Given the description of an element on the screen output the (x, y) to click on. 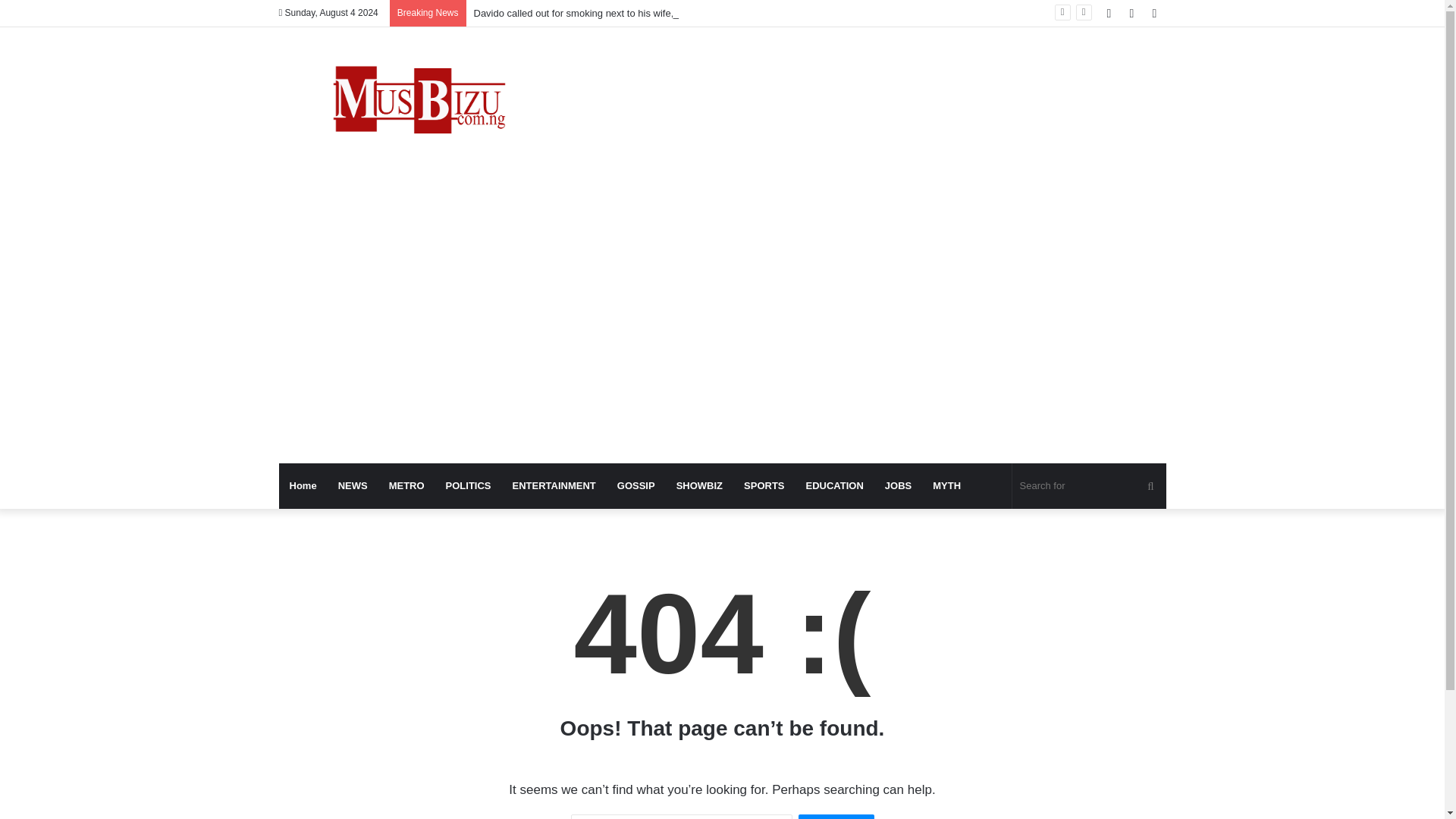
EDUCATION (834, 485)
Search (835, 816)
SHOWBIZ (699, 485)
Musbizu (419, 103)
NEWS (352, 485)
Sidebar (1154, 13)
Search for (1088, 485)
SPORTS (763, 485)
Search (835, 816)
METRO (406, 485)
ENTERTAINMENT (554, 485)
Random Article (1131, 13)
Davido called out for smoking next to his wife, Chioma (591, 12)
POLITICS (468, 485)
Home (303, 485)
